Given the description of an element on the screen output the (x, y) to click on. 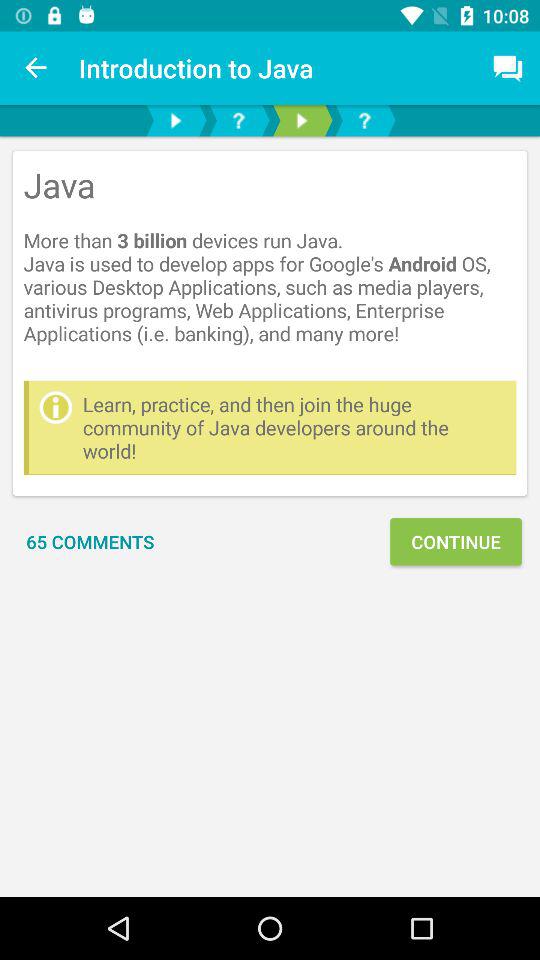
scroll until 65 comments item (90, 541)
